Given the description of an element on the screen output the (x, y) to click on. 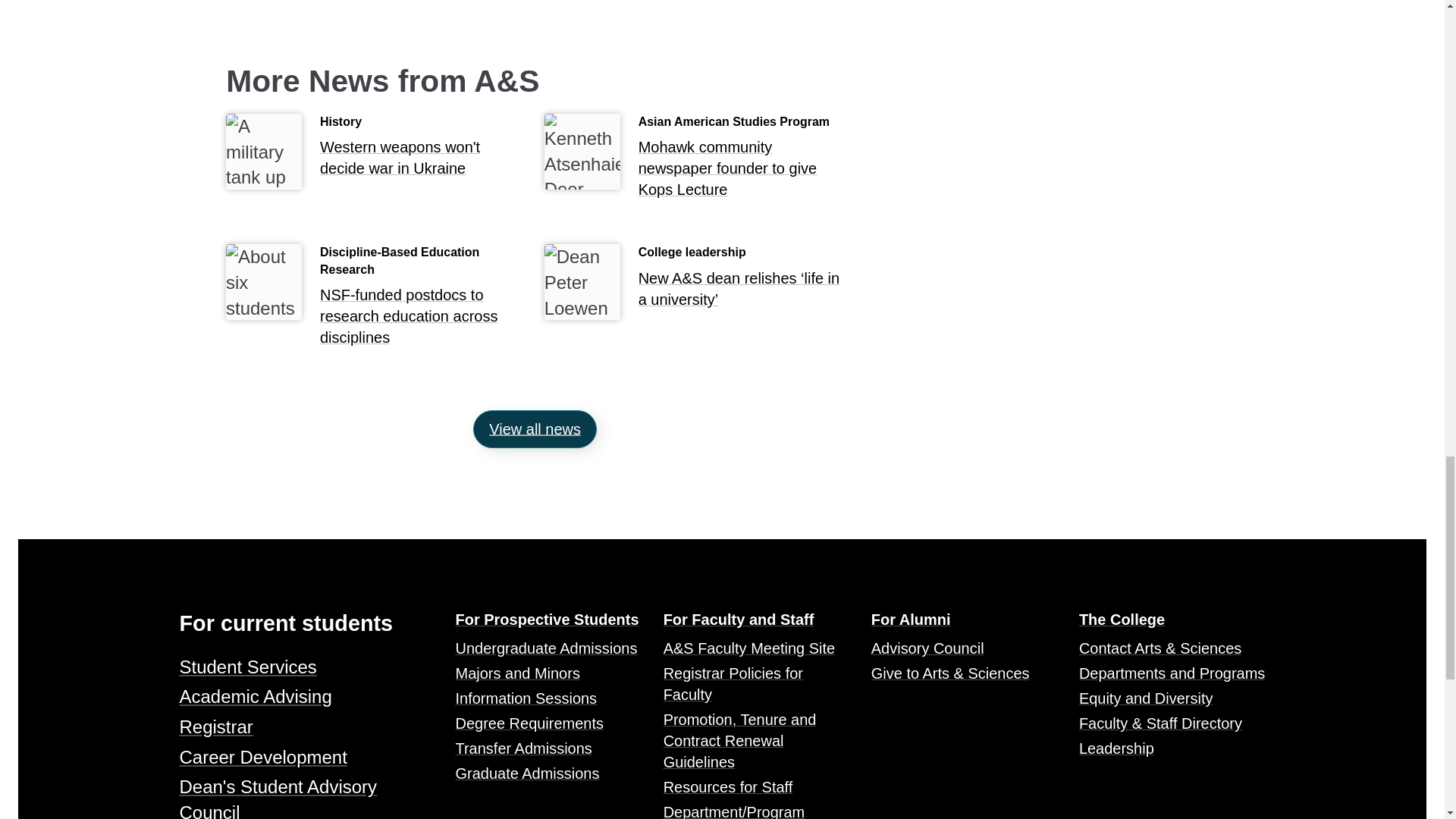
Western weapons won't decide war in Ukraine (422, 162)
NSF-funded postdocs to research education across disciplines (422, 319)
Mohawk community newspaper founder to give Kops Lecture  (741, 172)
